Given the description of an element on the screen output the (x, y) to click on. 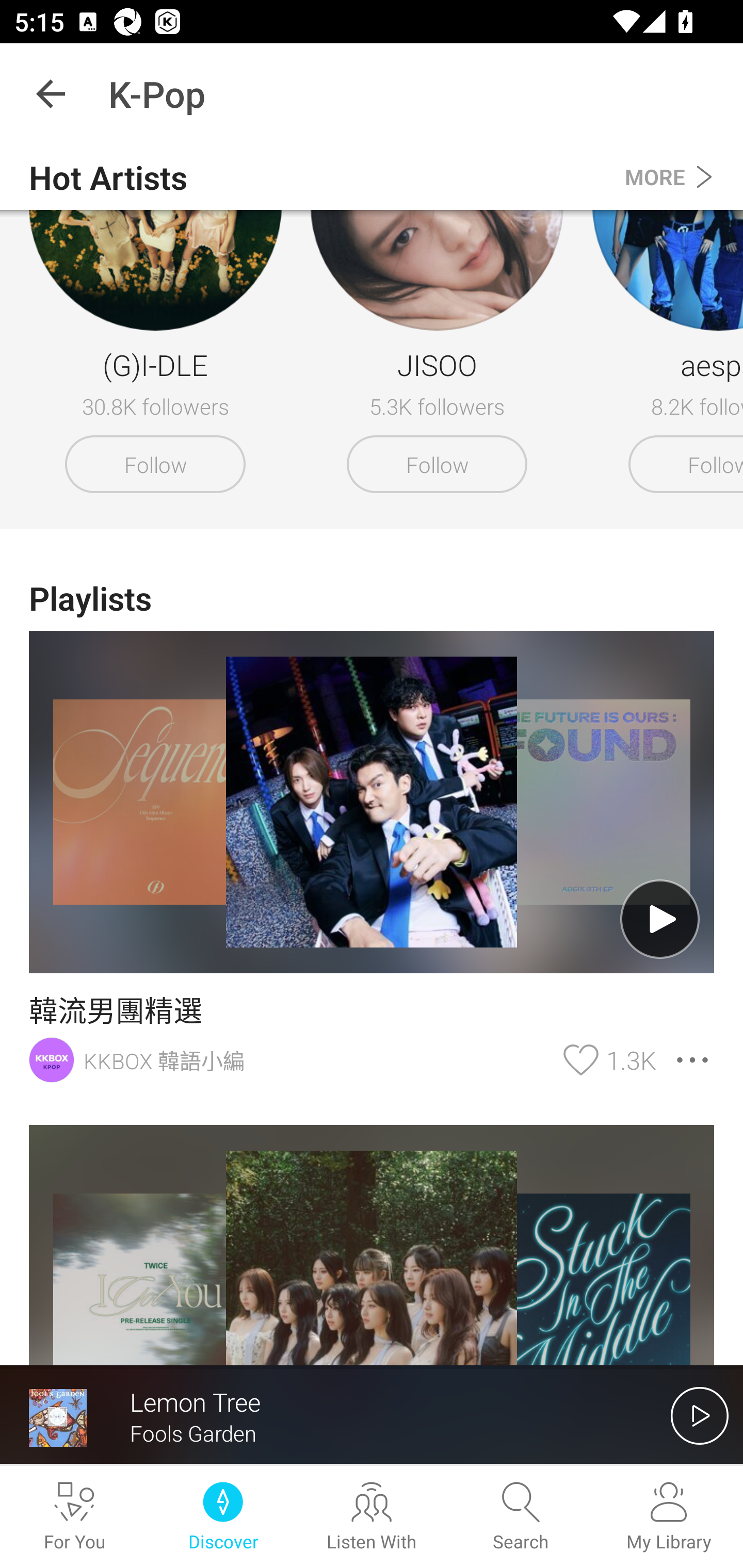
(G)I-DLE 30.8K followers Follow (148, 318)
Hot Artists MORE (371, 177)
JISOO 5.3K followers Follow (437, 318)
Playlists (371, 598)
播放歌單 韓流男團精選 KKBOX 韓語小編 1.3K more (371, 859)
播放歌單 (659, 919)
KKBOX 韓語小編 (290, 1059)
1.3K (604, 1059)
more (692, 1059)
開始播放 (699, 1415)
For You (74, 1517)
Discover (222, 1517)
Listen With (371, 1517)
Search (519, 1517)
My Library (668, 1517)
